Given the description of an element on the screen output the (x, y) to click on. 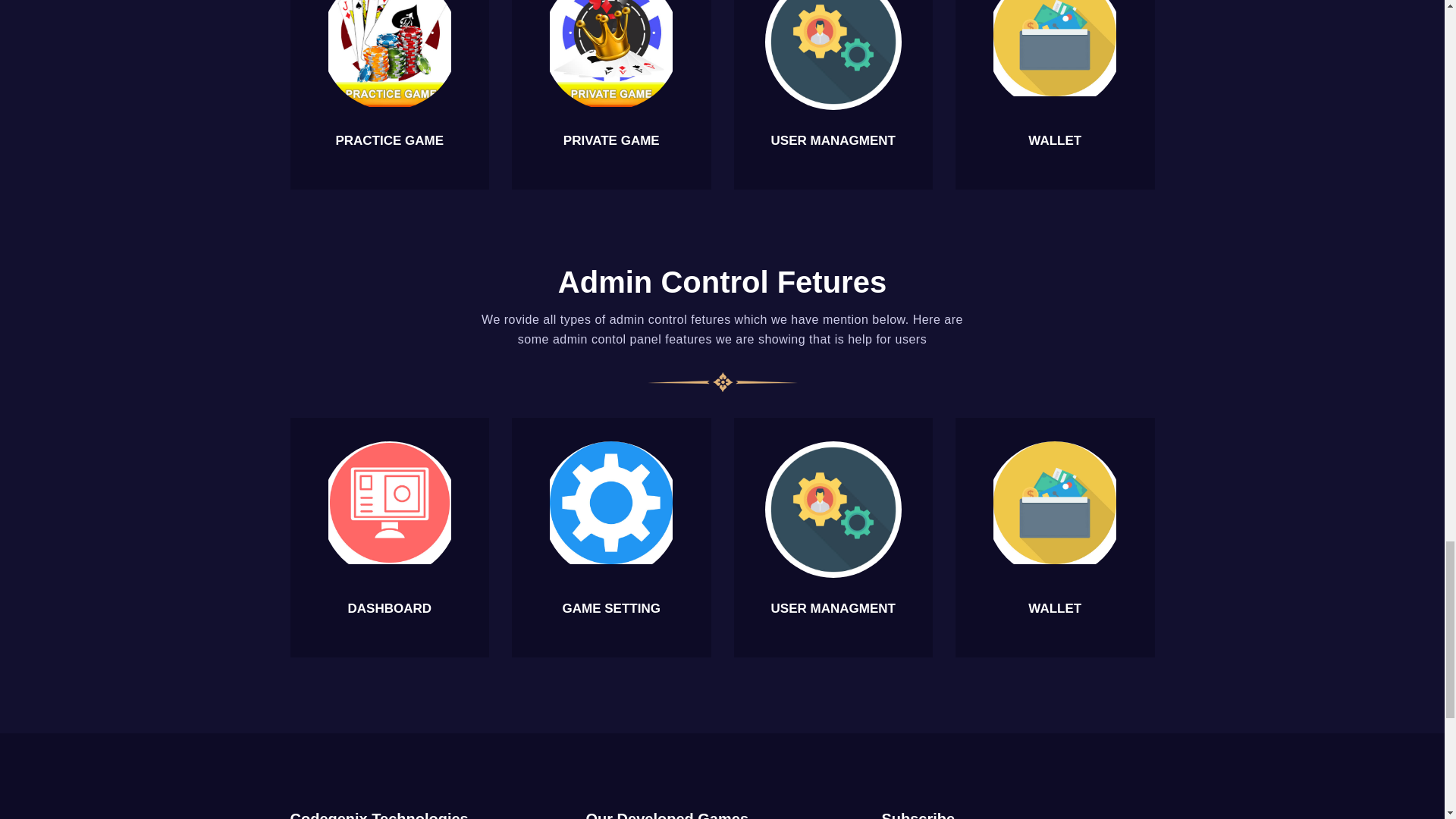
GAME SETTING (611, 607)
USER MANAGMENT (833, 607)
USER MANAGMENT (833, 140)
WALLET (1054, 607)
DASHBOARD (388, 607)
PRIVATE GAME (611, 140)
PRACTICE GAME (389, 140)
WALLET (1054, 140)
